Given the description of an element on the screen output the (x, y) to click on. 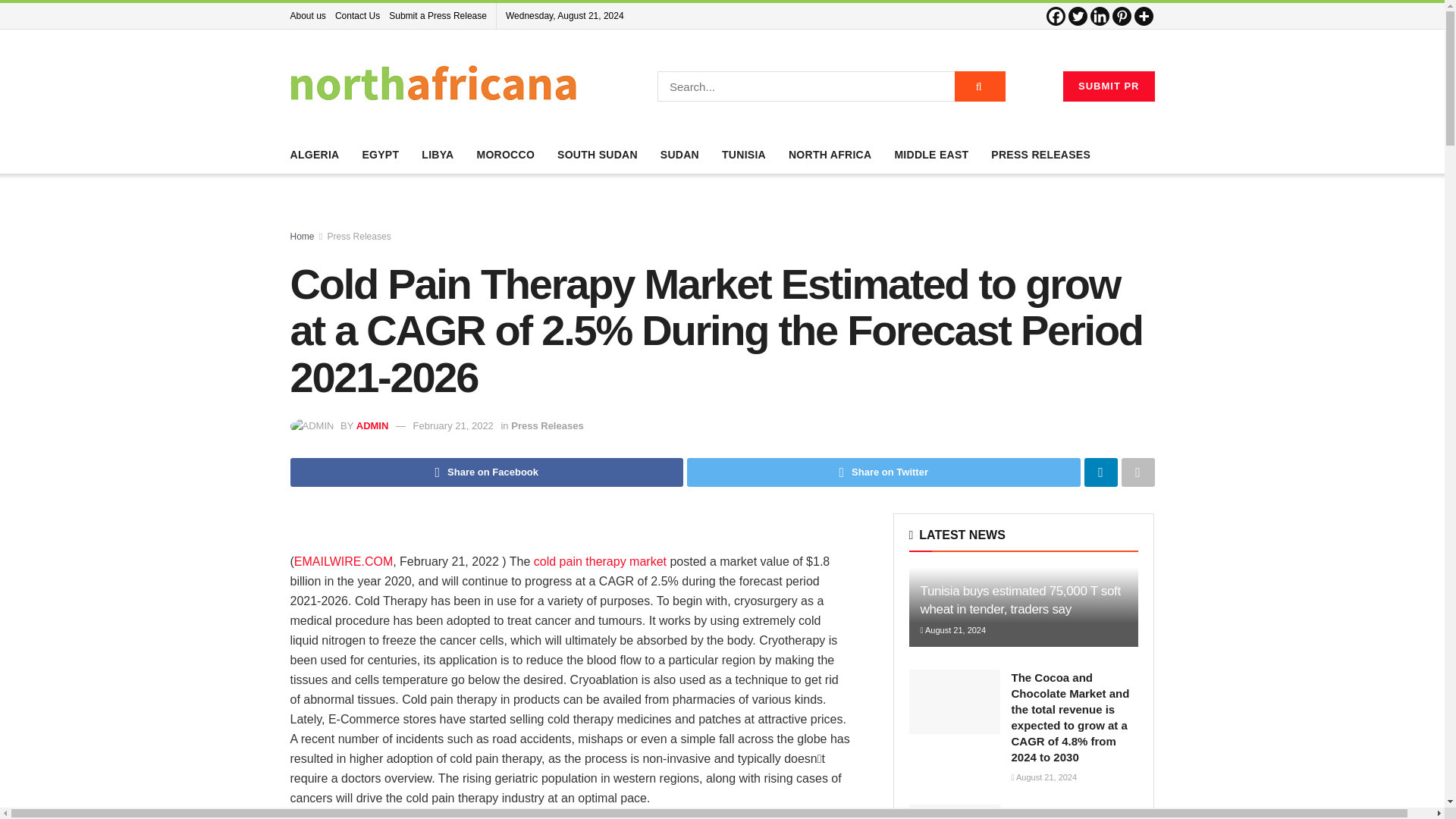
Submit a Press Release (437, 15)
Pinterest (1121, 15)
EGYPT (379, 154)
Contact Us (357, 15)
SUBMIT PR (1108, 86)
Linkedin (1099, 15)
Facebook (1055, 15)
About us (306, 15)
More (1143, 15)
Twitter (1076, 15)
